Given the description of an element on the screen output the (x, y) to click on. 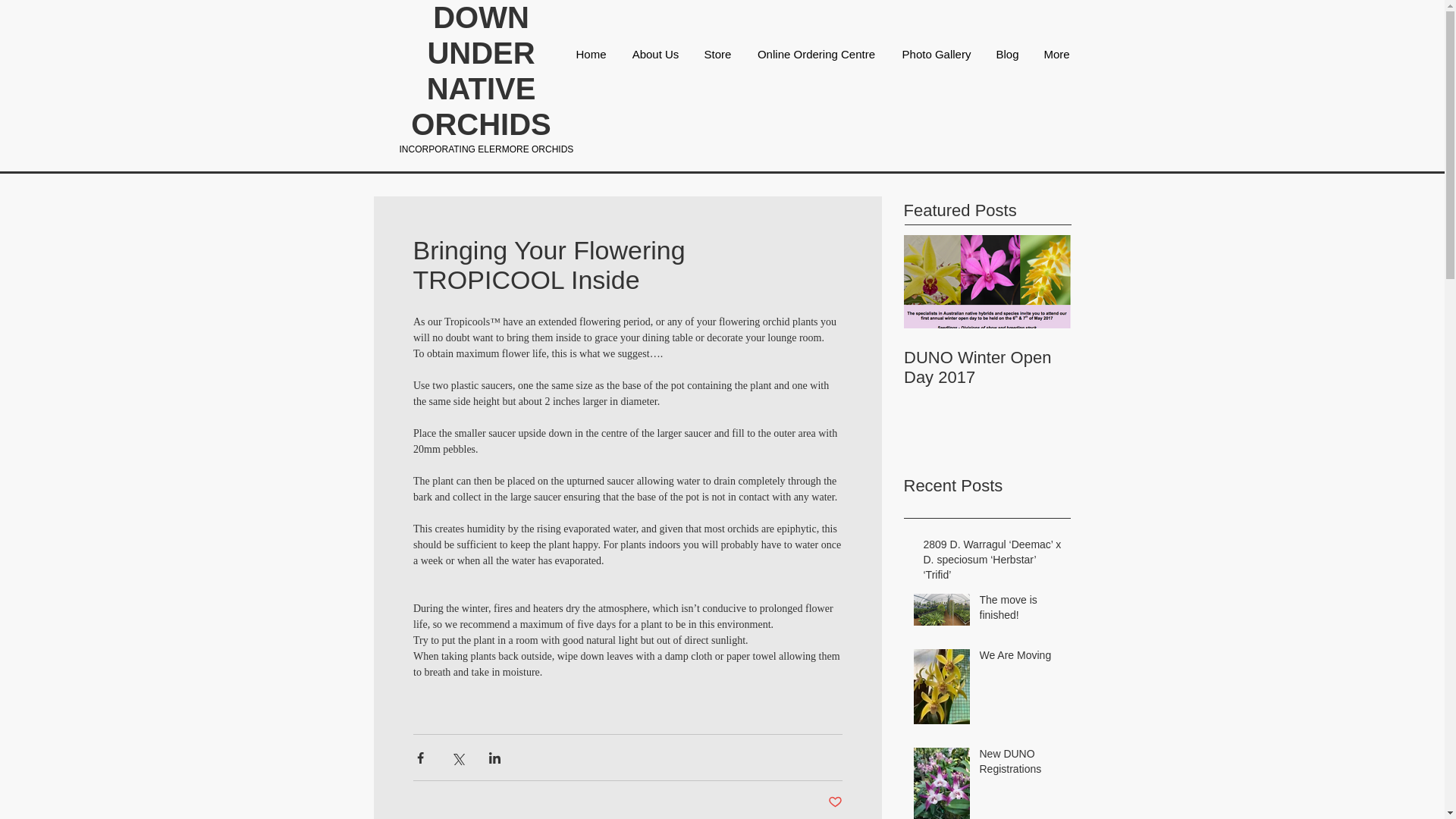
Post not marked as liked (835, 802)
UNDER (480, 52)
The move is finished! (1020, 610)
NATIVE (480, 88)
ORCHIDS (480, 123)
DUNO Winter Open Day 2017 (987, 367)
We Are Moving (1020, 658)
DOWN (480, 17)
New DUNO Registrations (1020, 764)
